Given the description of an element on the screen output the (x, y) to click on. 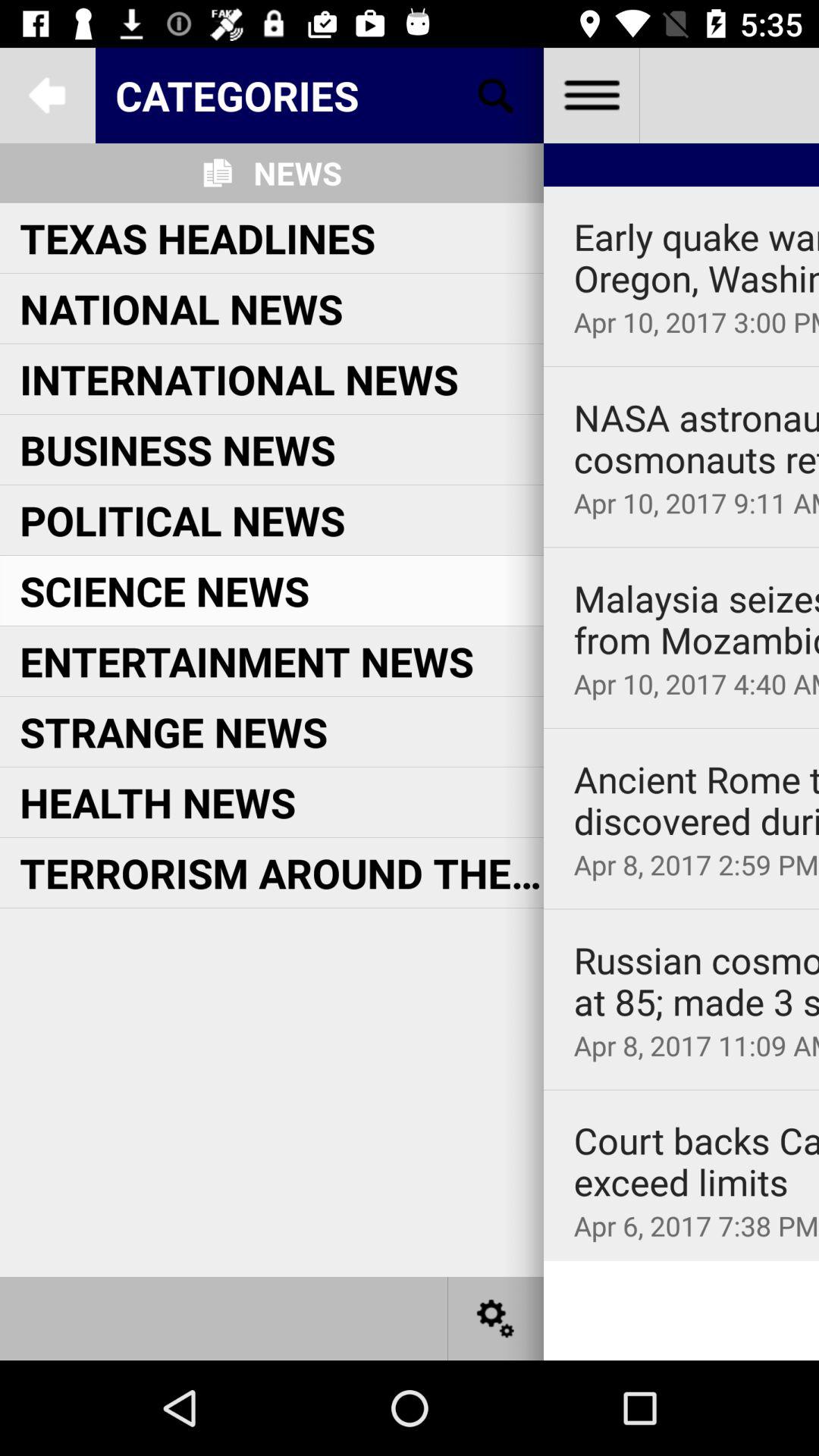
scroll until ancient rome treasures icon (696, 800)
